Given the description of an element on the screen output the (x, y) to click on. 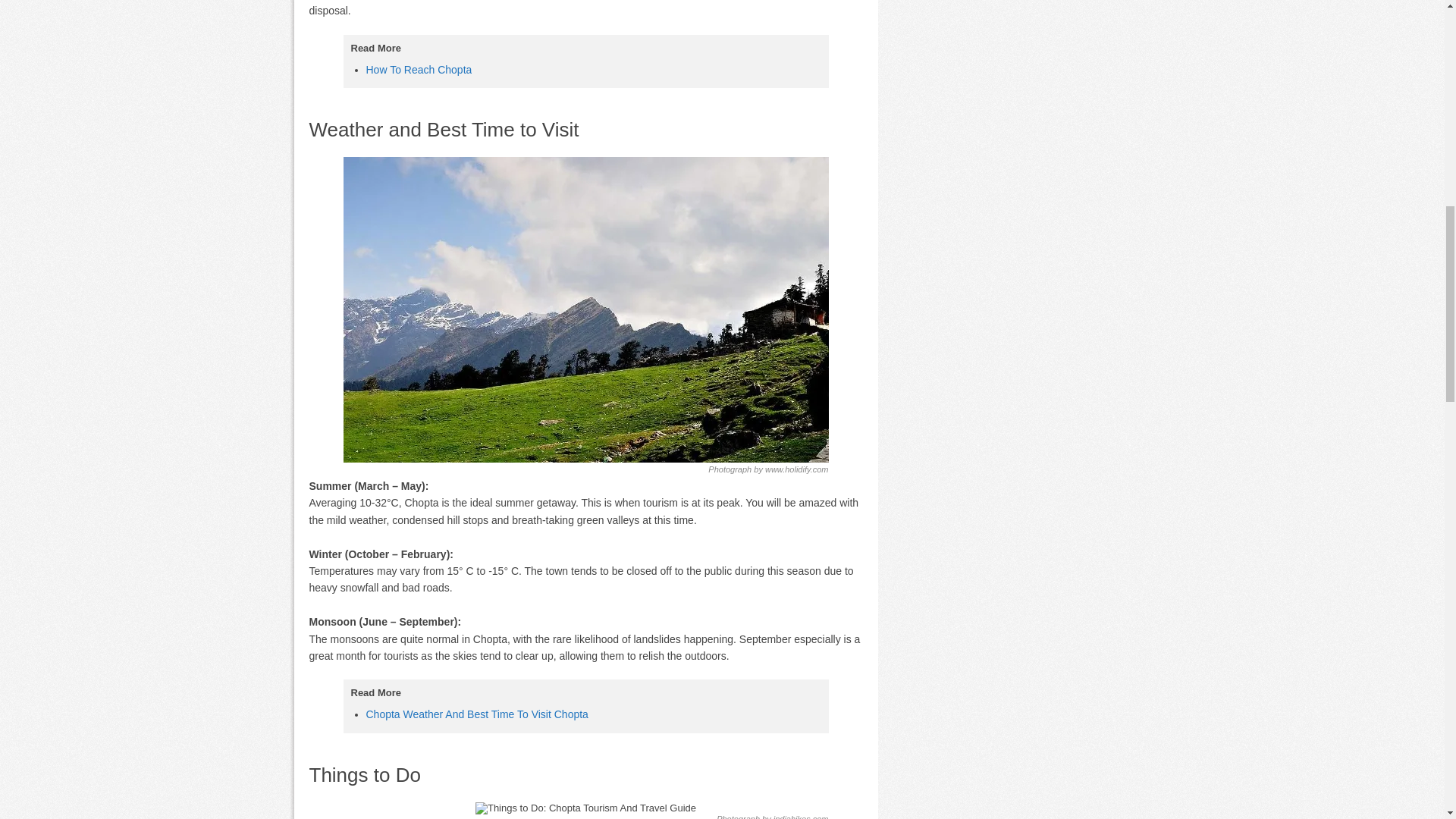
How To Reach Chopta (418, 69)
Chopta Weather And Best Time To Visit Chopta (476, 714)
